Given the description of an element on the screen output the (x, y) to click on. 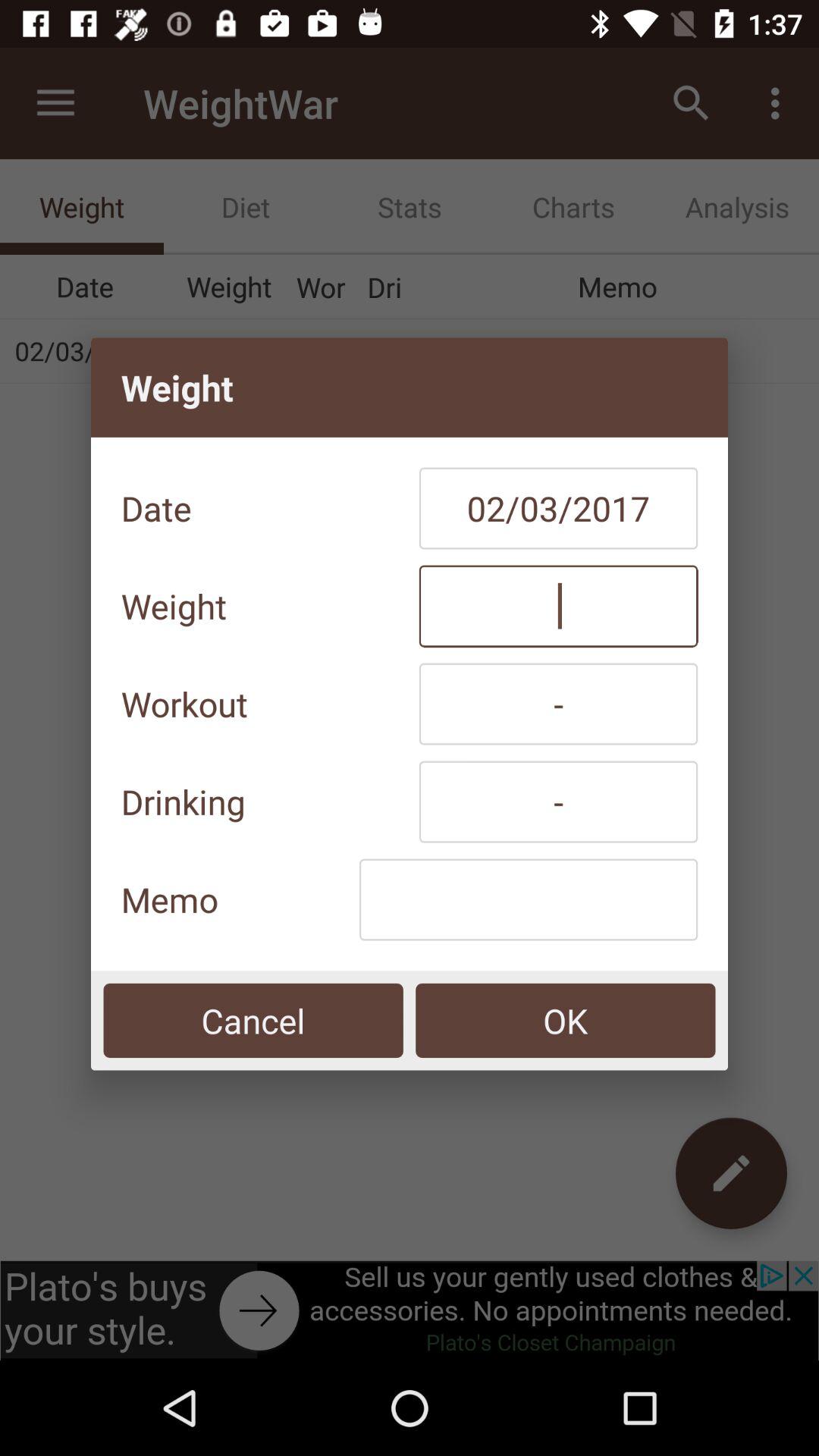
select the icon next to workout icon (558, 704)
